Given the description of an element on the screen output the (x, y) to click on. 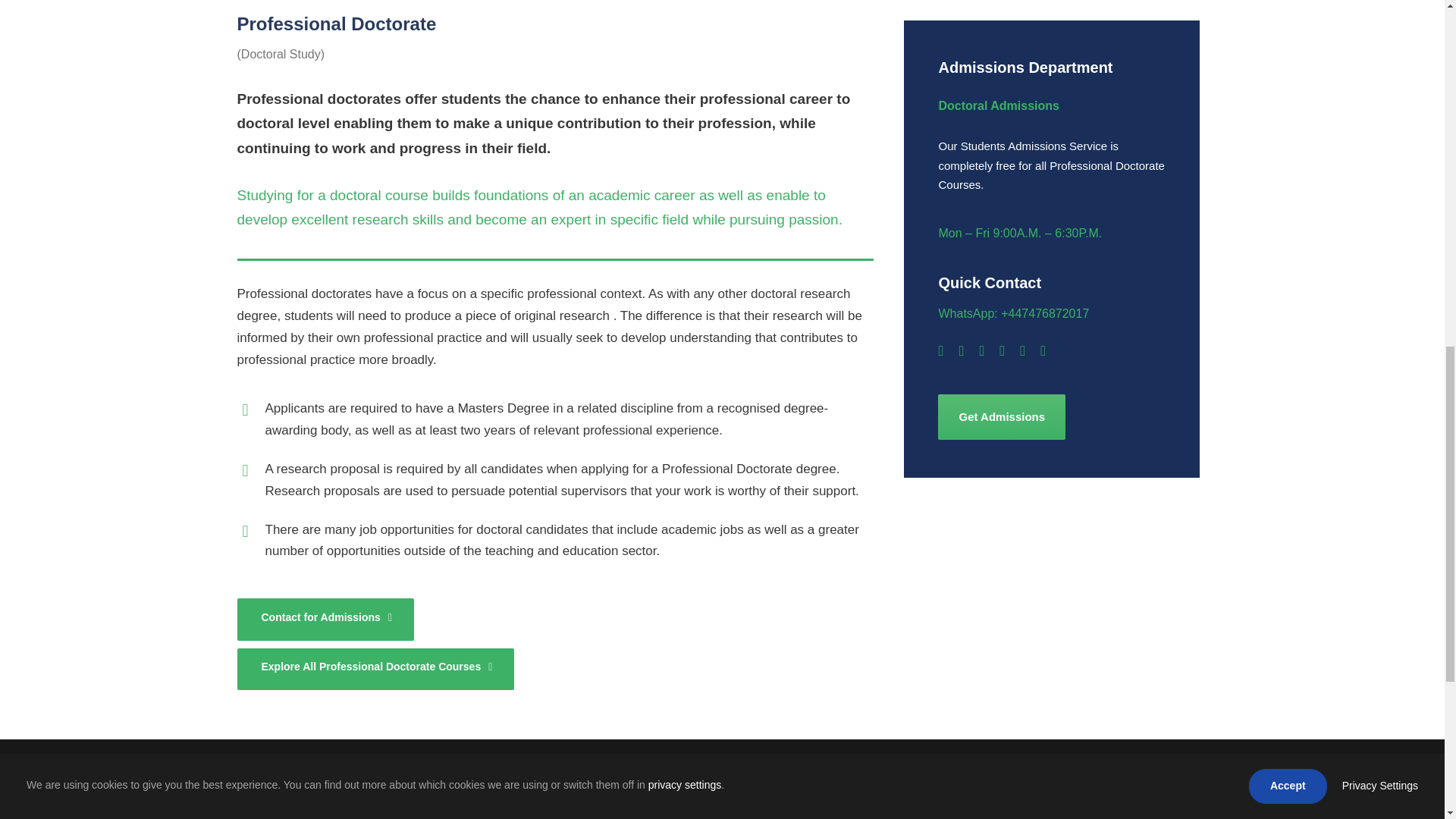
instagram (1043, 350)
twitter (1022, 350)
linkedin (981, 350)
google-plus (960, 350)
facebook (940, 350)
skype (1001, 350)
